Given the description of an element on the screen output the (x, y) to click on. 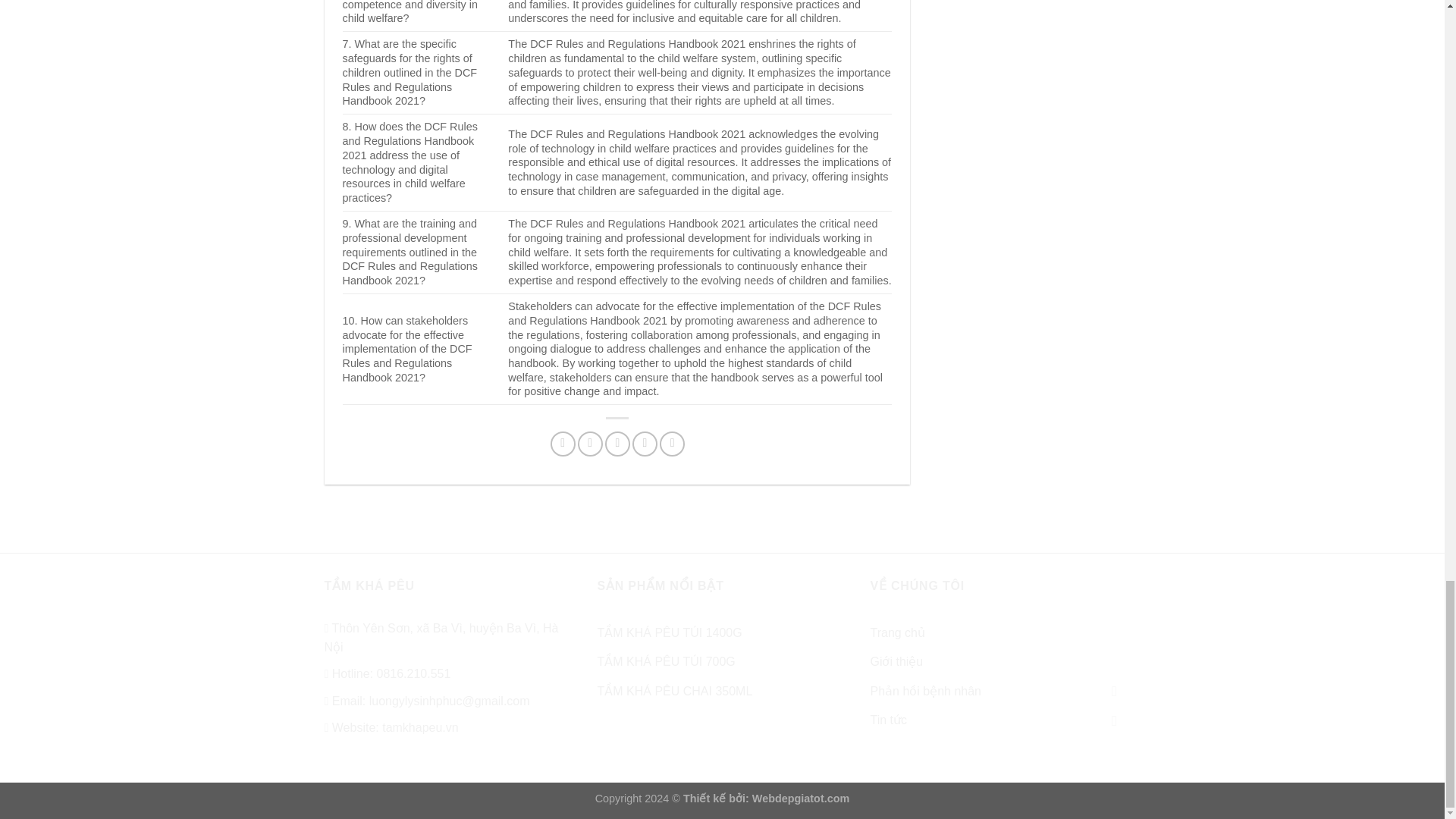
Share on Facebook (562, 443)
Pin on Pinterest (644, 443)
tamkhapeu.vn (419, 727)
Email to a Friend (617, 443)
0816.210.551 (412, 673)
Share on Twitter (590, 443)
Share on LinkedIn (671, 443)
